Given the description of an element on the screen output the (x, y) to click on. 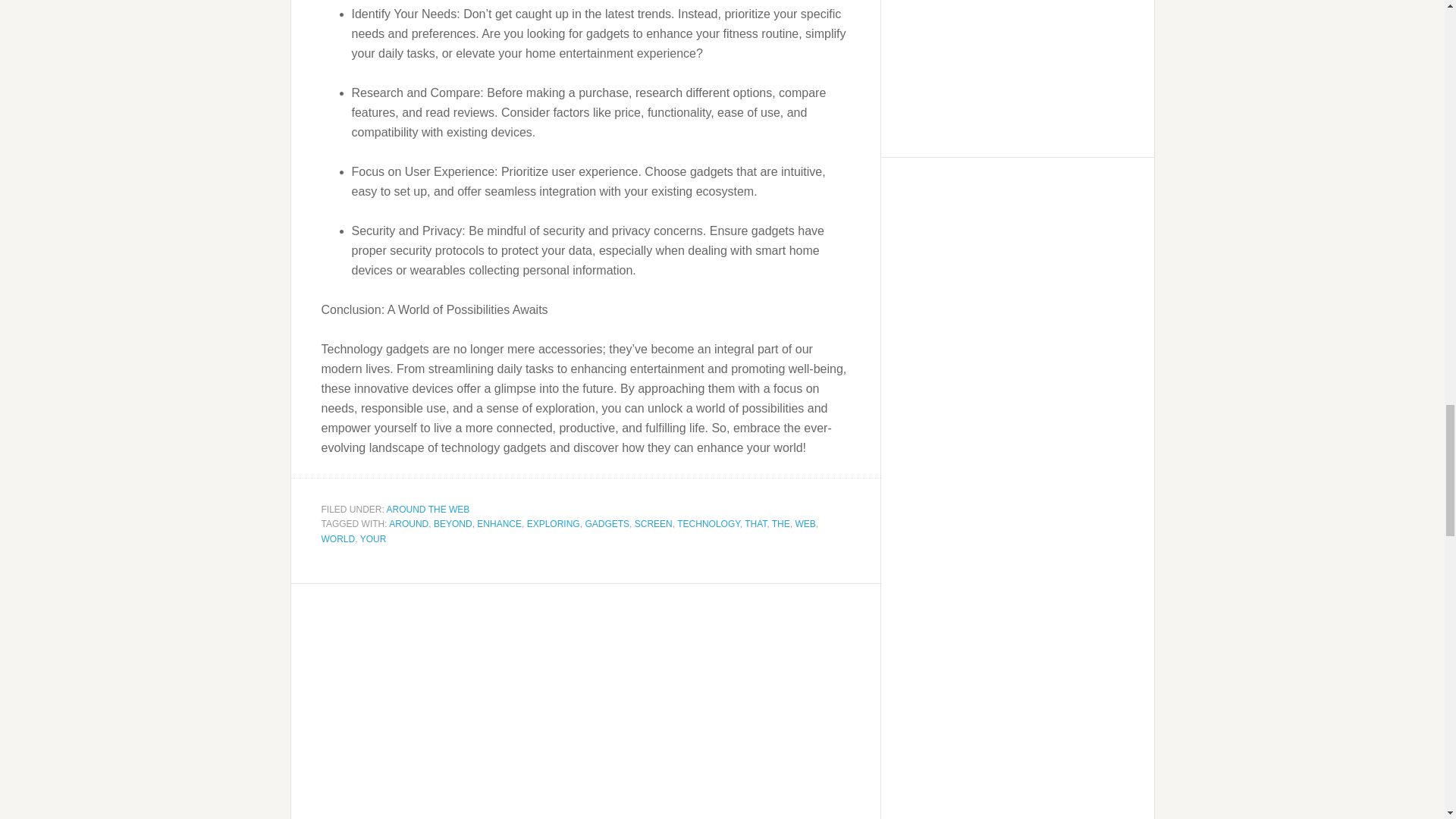
ENHANCE (499, 523)
EXPLORING (553, 523)
AROUND (408, 523)
WEB (804, 523)
TECHNOLOGY (708, 523)
GADGETS (606, 523)
THAT (755, 523)
THE (780, 523)
SCREEN (653, 523)
BEYOND (452, 523)
